Given the description of an element on the screen output the (x, y) to click on. 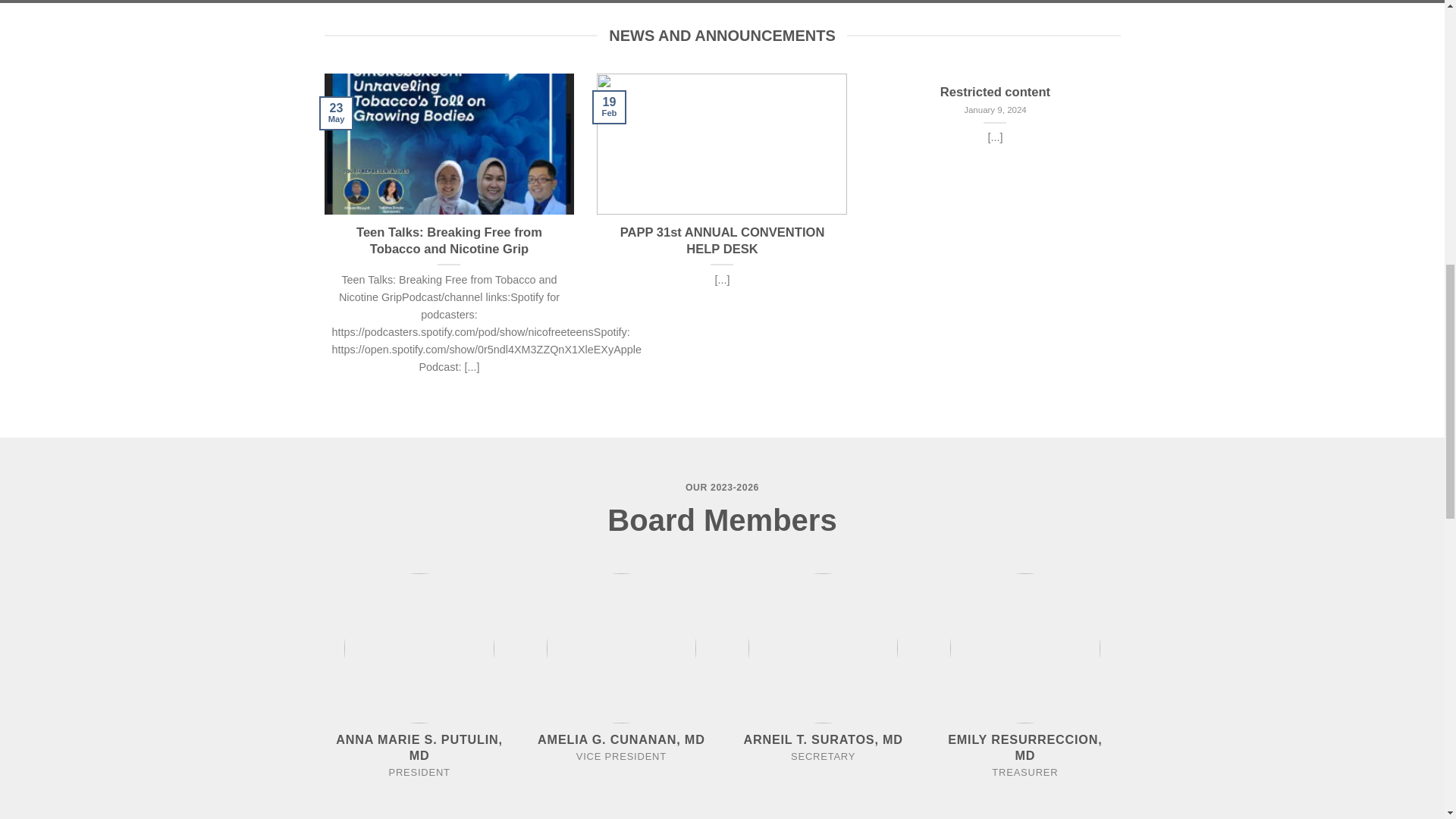
Restricted content (994, 92)
Teen Talks: Breaking Free from Tobacco and Nicotine Grip (449, 240)
PAPP 31st ANNUAL CONVENTION HELP DESK (722, 240)
